Given the description of an element on the screen output the (x, y) to click on. 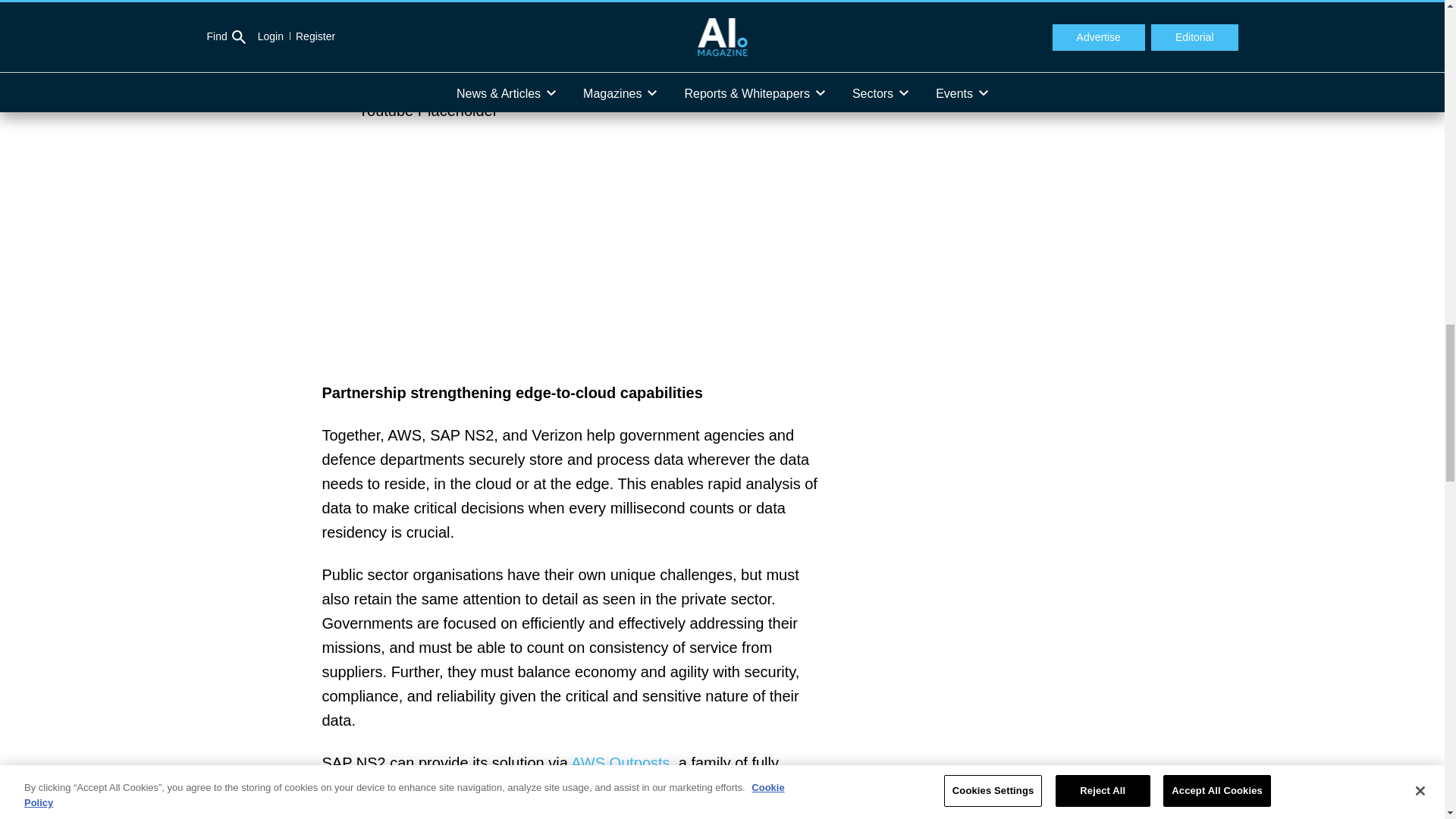
3rd party ad content (1008, 54)
